Given the description of an element on the screen output the (x, y) to click on. 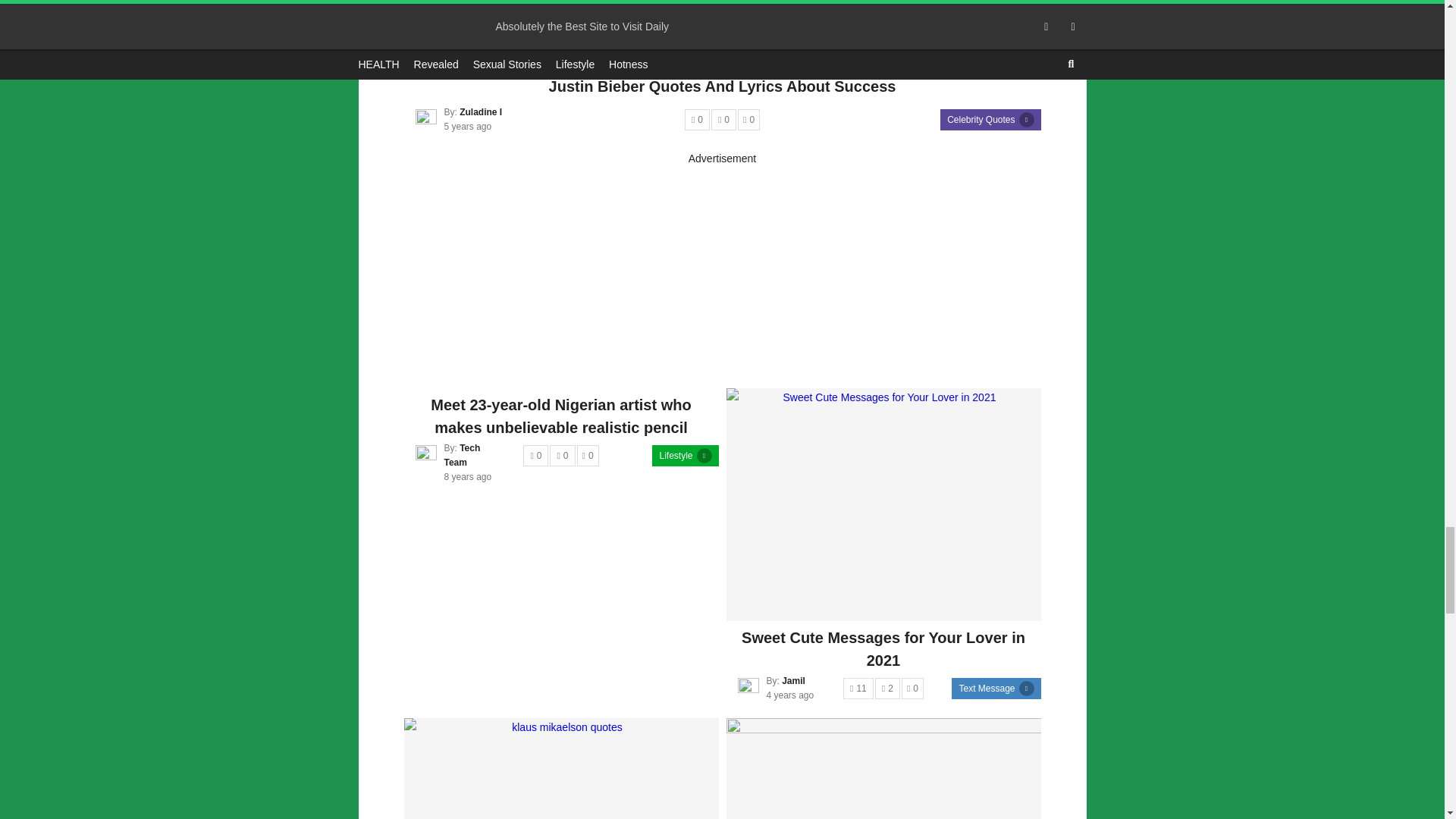
Posts by Zuladine I (481, 111)
Posts by Jamil (793, 680)
Posts by Tech Team (462, 455)
